Given the description of an element on the screen output the (x, y) to click on. 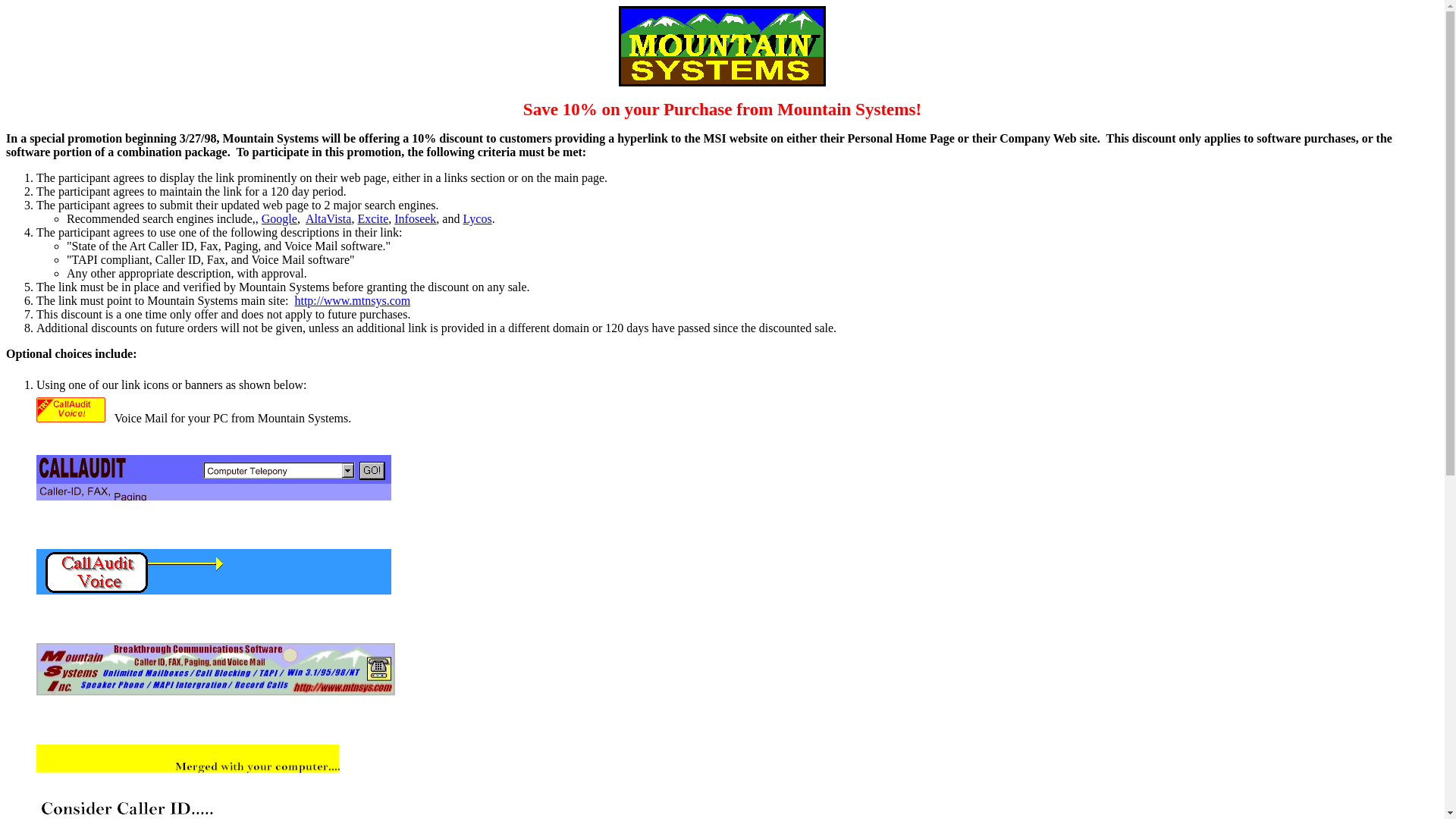
AltaVista (327, 218)
Lycos (477, 218)
Excite (372, 218)
Google (279, 218)
Infoseek (414, 218)
